Given the description of an element on the screen output the (x, y) to click on. 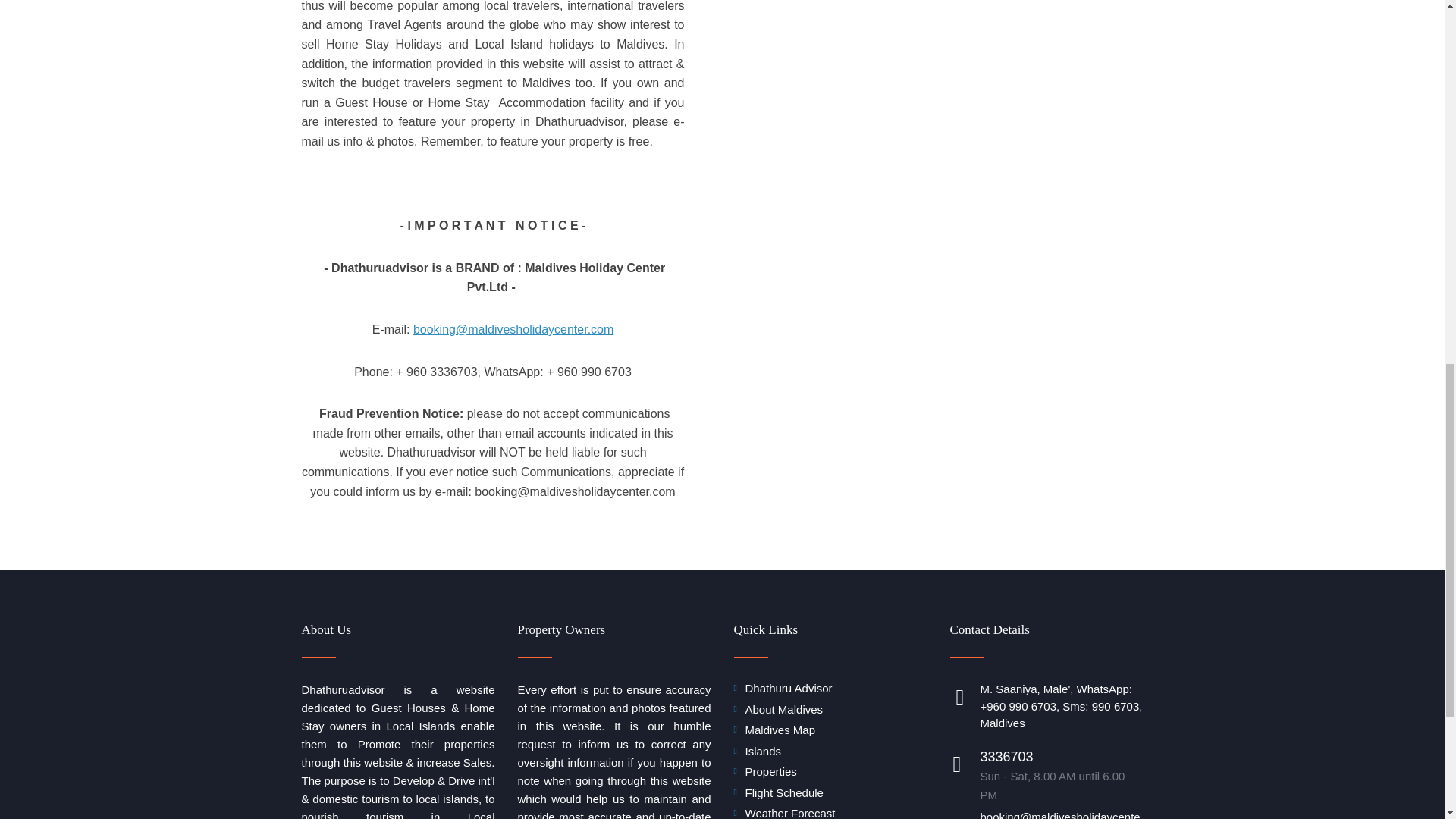
Flight Schedule (783, 792)
Dhathuru Advisor (787, 687)
Weather Forecast (789, 812)
Islands (762, 750)
Maldives Map (779, 729)
Properties (770, 771)
About Maldives (783, 708)
